Given the description of an element on the screen output the (x, y) to click on. 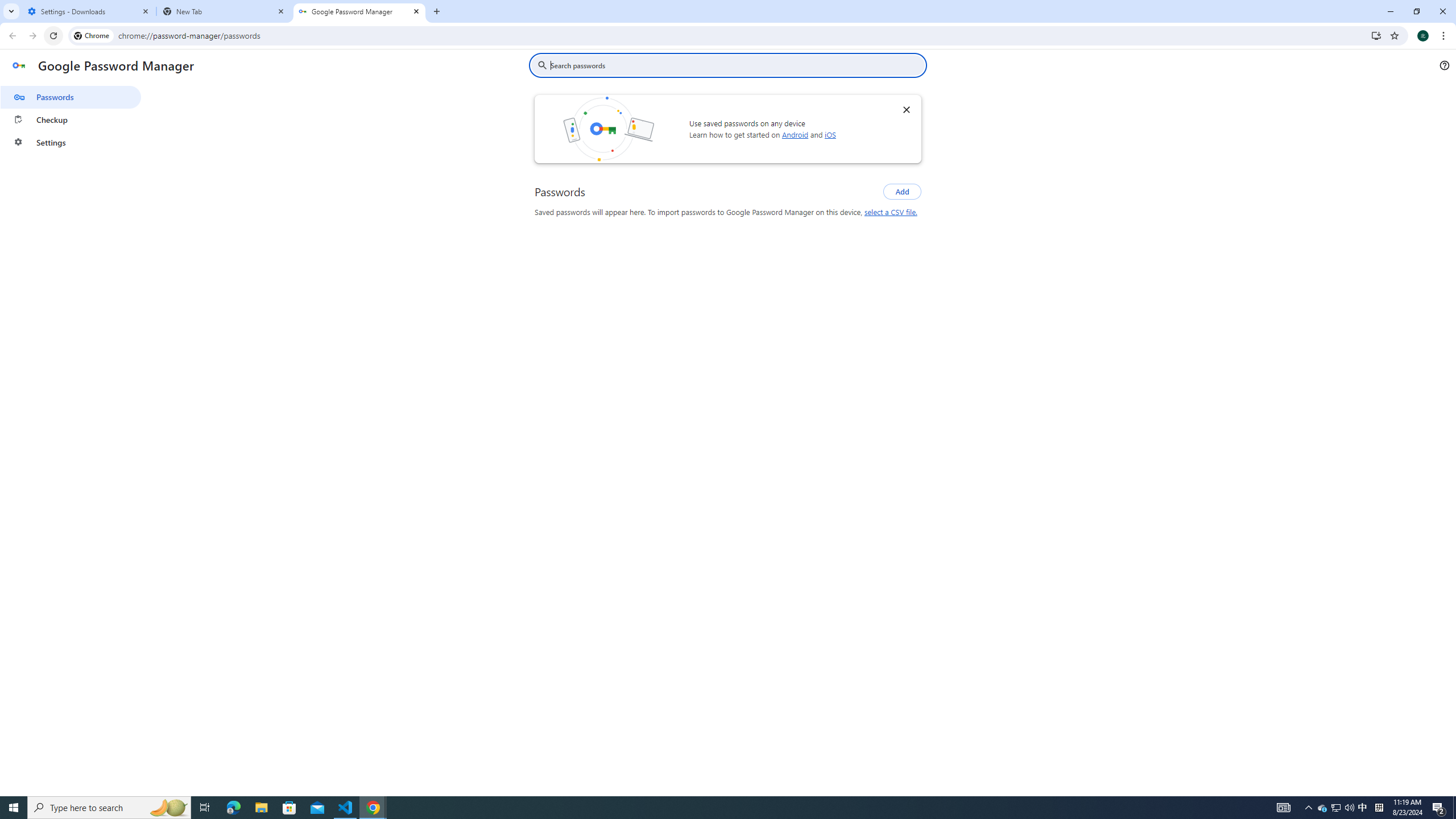
Passwords (70, 96)
